Given the description of an element on the screen output the (x, y) to click on. 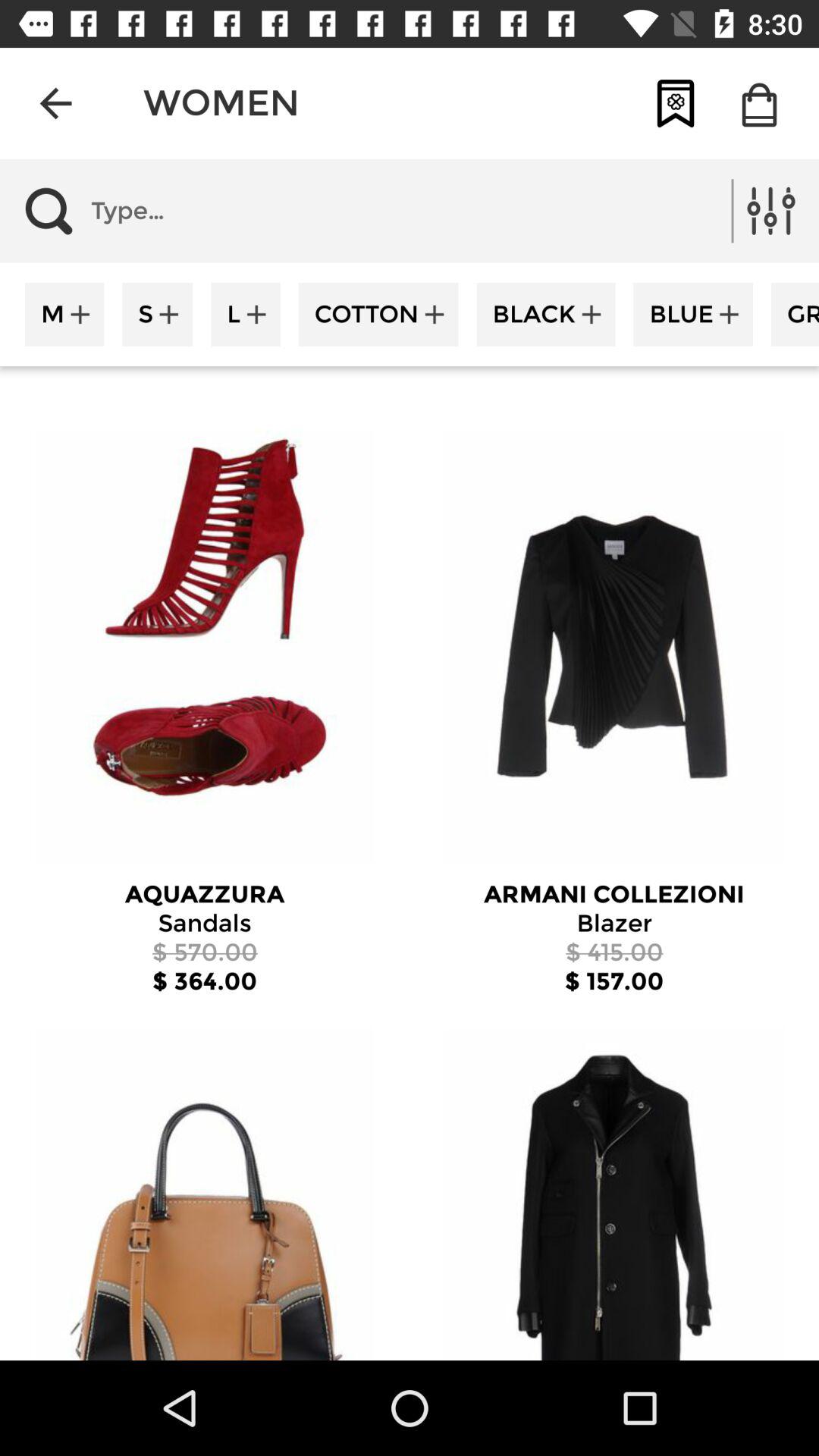
turn off icon to the right of cotton item (545, 314)
